Given the description of an element on the screen output the (x, y) to click on. 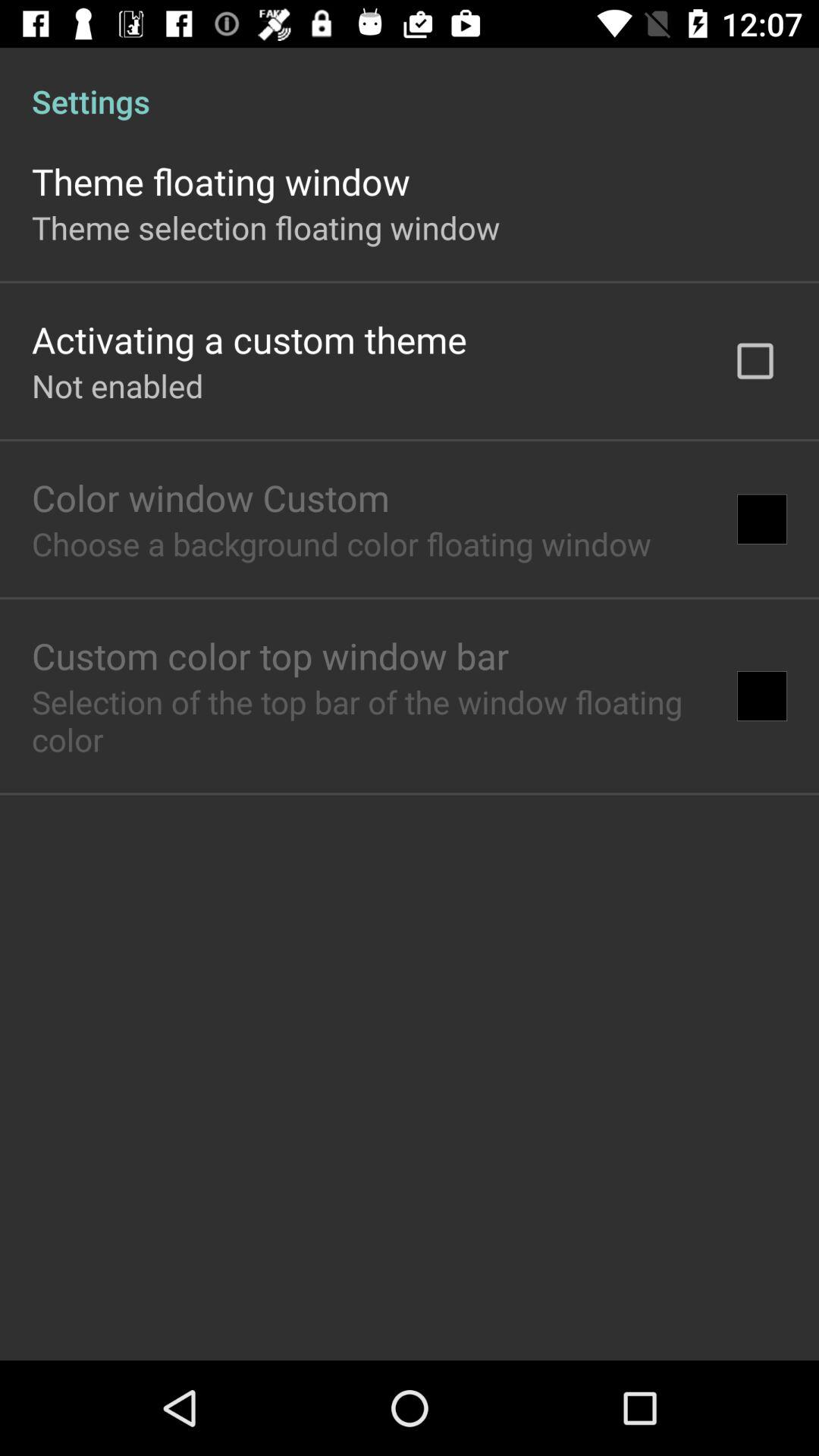
click item below theme selection floating (248, 339)
